Given the description of an element on the screen output the (x, y) to click on. 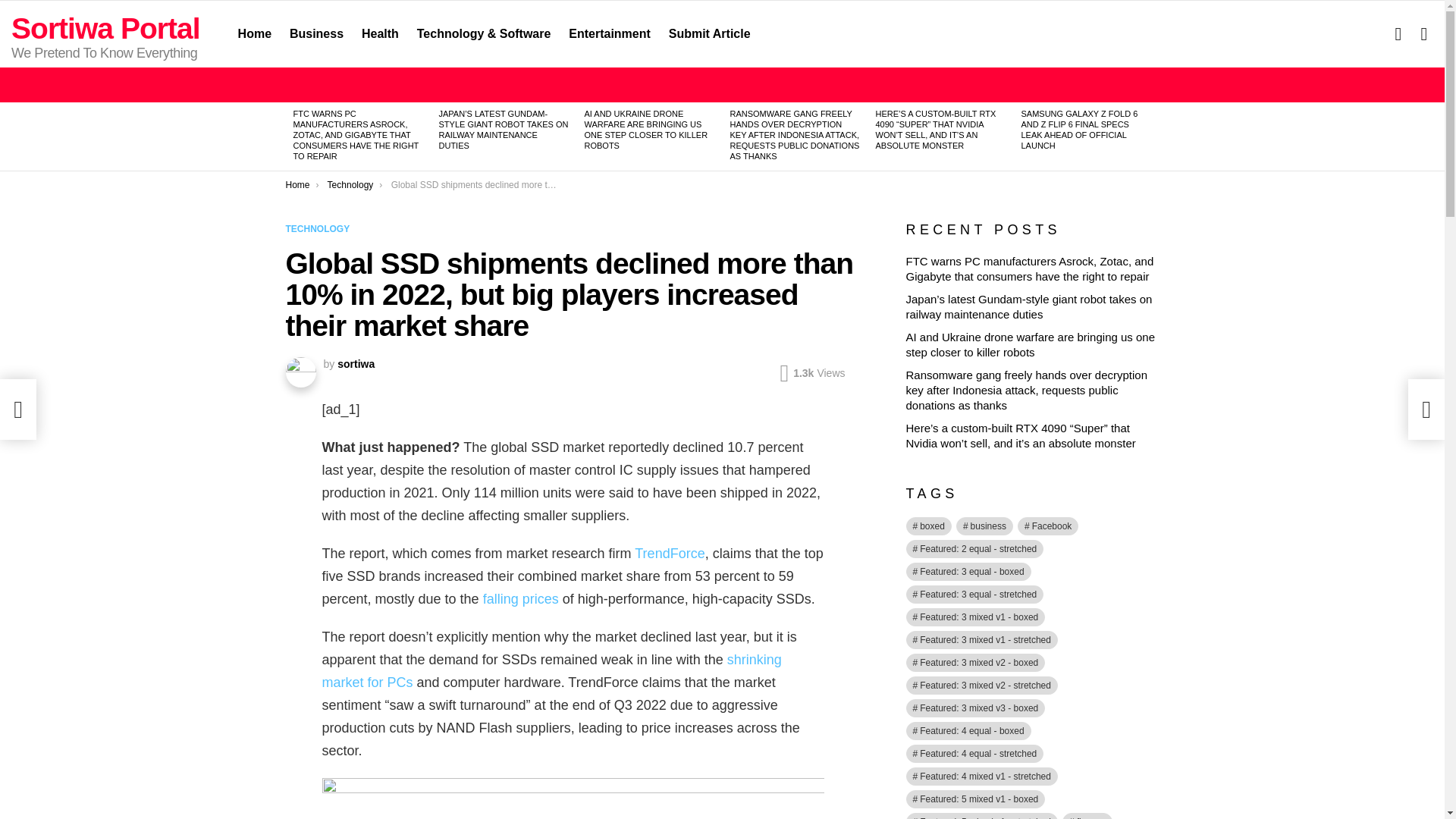
Home (254, 33)
Business (316, 33)
Posts by sortiwa (355, 363)
Sortiwa Portal (105, 28)
Entertainment (609, 33)
Submit Article (709, 33)
TrendForce (669, 553)
falling prices (521, 598)
Technology (350, 184)
TECHNOLOGY (320, 228)
sortiwa (355, 363)
Health (379, 33)
